Given the description of an element on the screen output the (x, y) to click on. 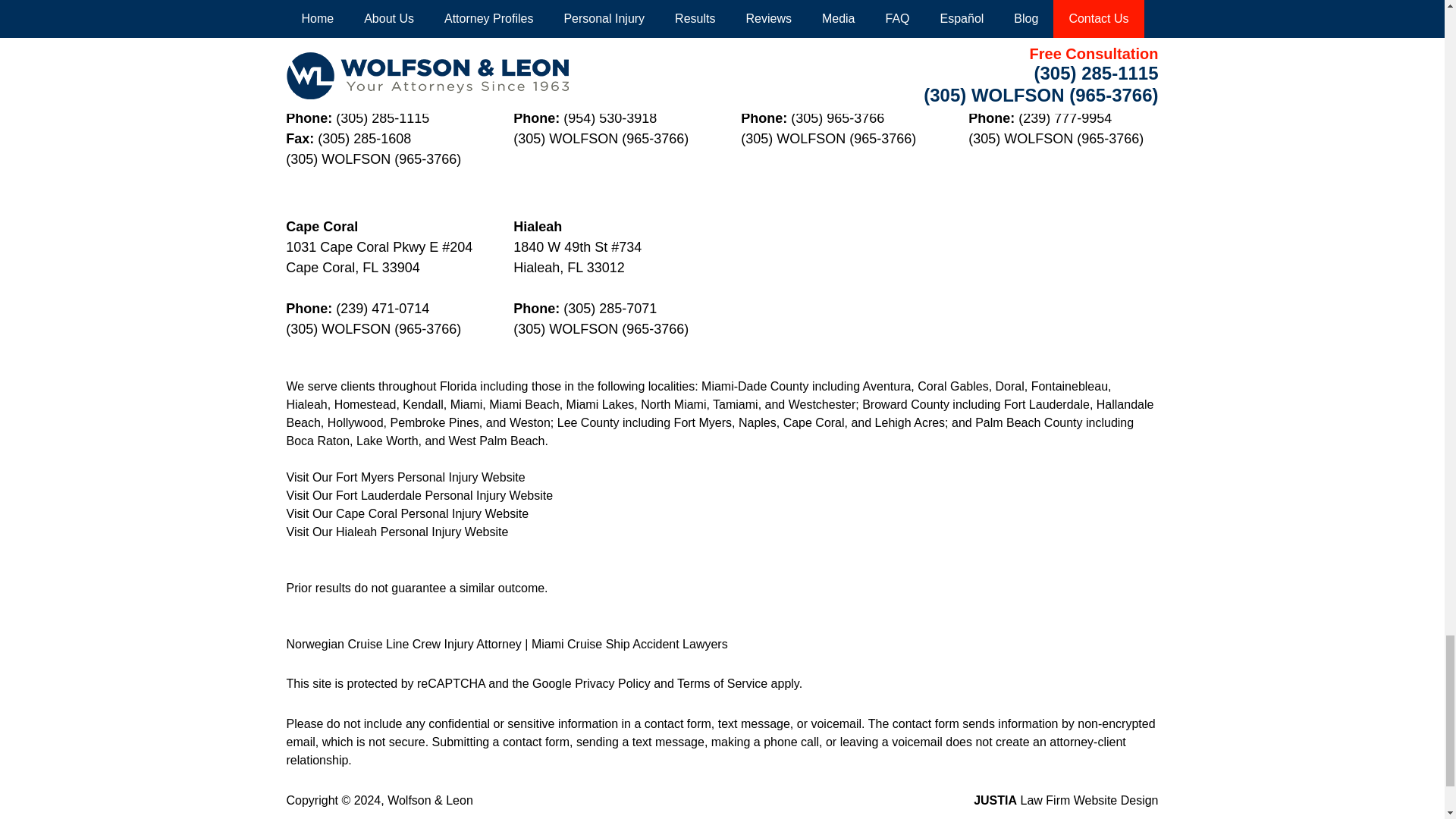
Yelp (304, 1)
